Given the description of an element on the screen output the (x, y) to click on. 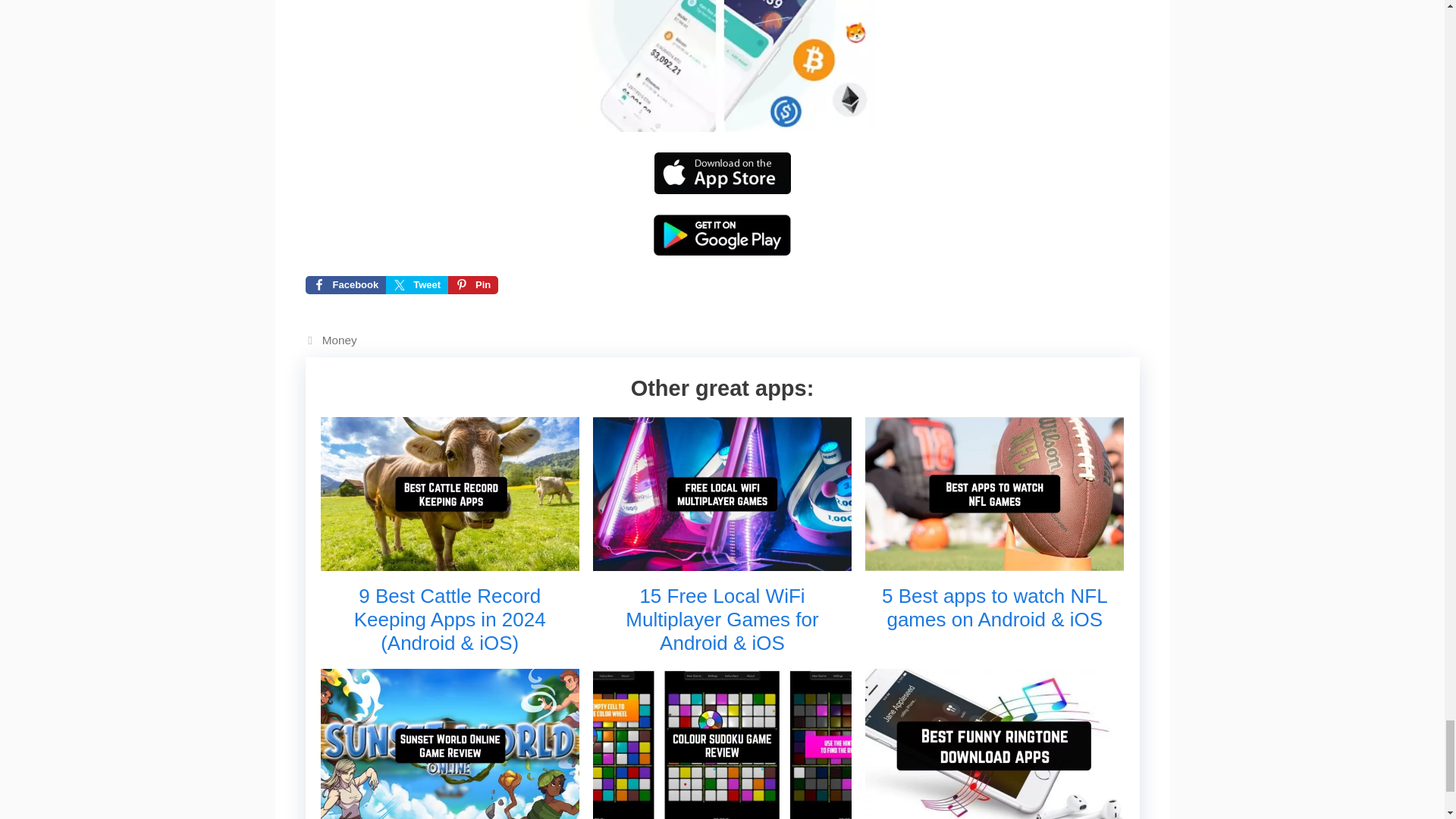
Share on Facebook (344, 285)
Sunset World Online Game Review (449, 811)
Color Sudoku Game Review (721, 811)
13 Best funny ringtone download apps (994, 811)
Share on Twitter (416, 285)
Share on Pinterest (472, 285)
